Given the description of an element on the screen output the (x, y) to click on. 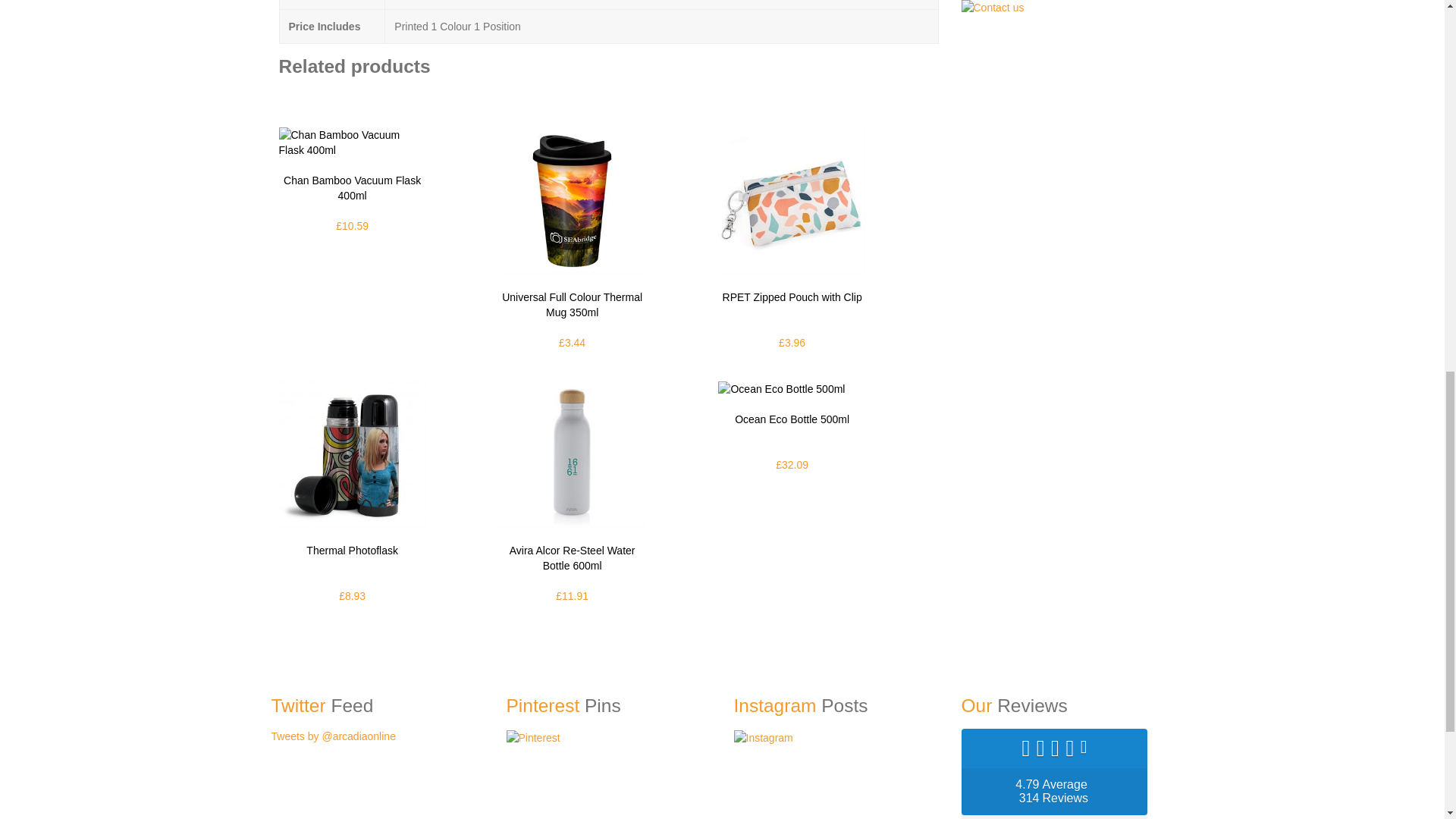
Thermal Photoflask (352, 453)
Avira Alcor Re-Steel Water Bottle 600ml  (571, 453)
Universal Full Colour Take Away Thermal Mug Cup (571, 200)
Chan Bamboo Vacuum Flask 400ml (352, 142)
Ocean Eco Bottle 500ml (780, 388)
Handy Face Mask Pouch (790, 200)
